Given the description of an element on the screen output the (x, y) to click on. 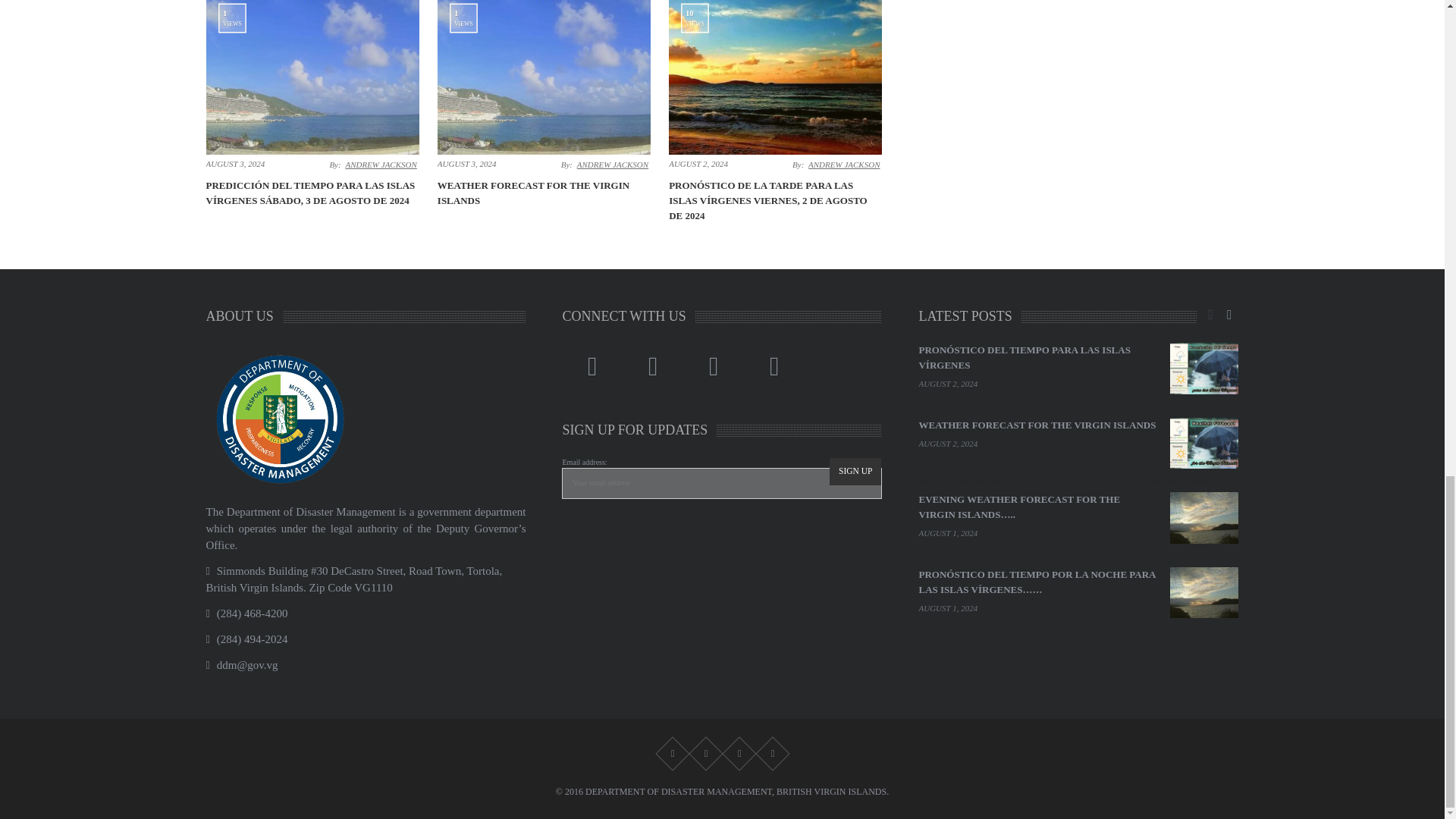
Sign up (854, 471)
facebook (592, 367)
WEATHER FORECAST FOR THE VIRGIN ISLANDS (533, 192)
